Given the description of an element on the screen output the (x, y) to click on. 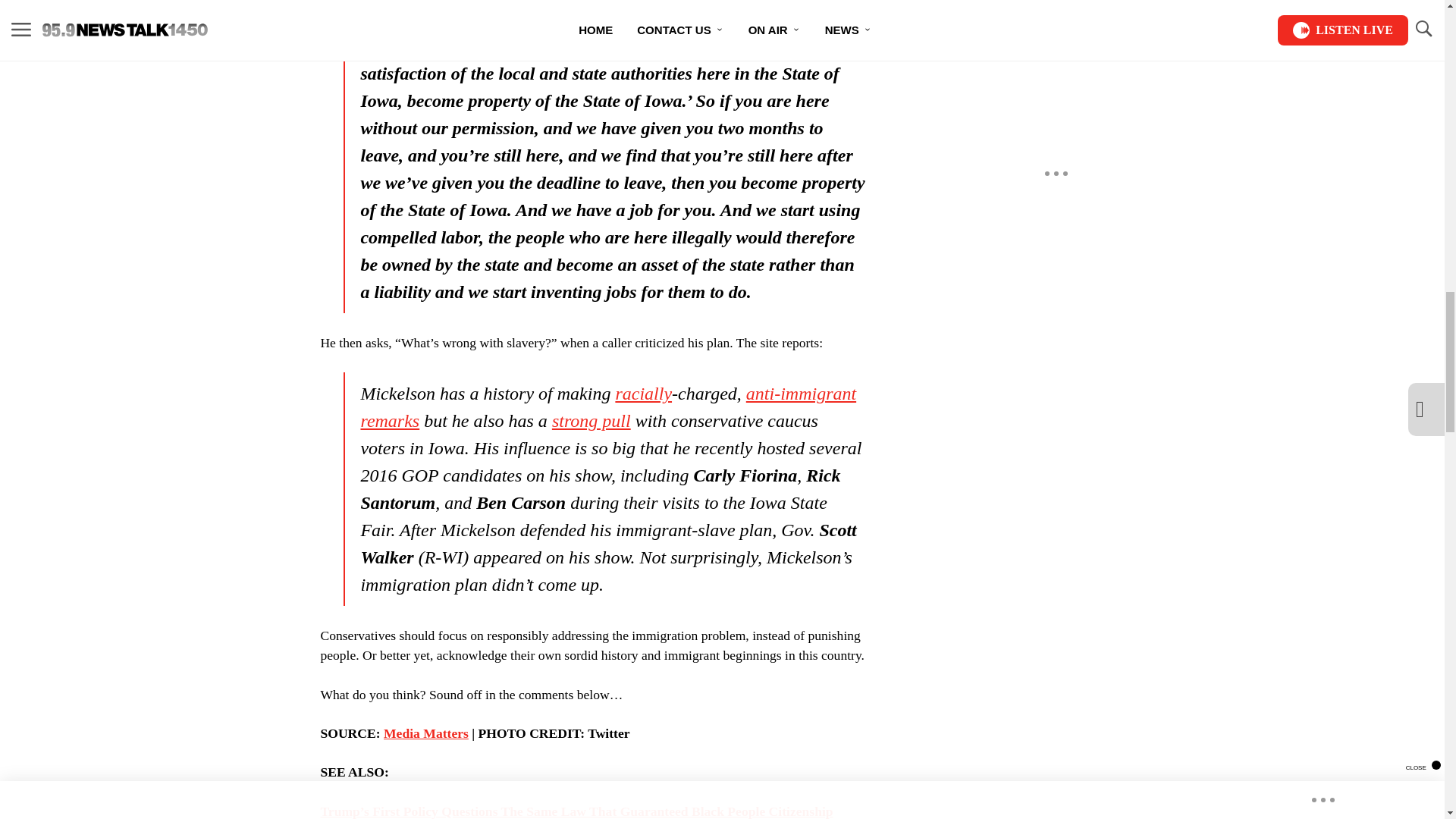
strong pull (590, 420)
anti-immigrant remarks (607, 407)
racially (642, 393)
Media Matters (426, 733)
